Given the description of an element on the screen output the (x, y) to click on. 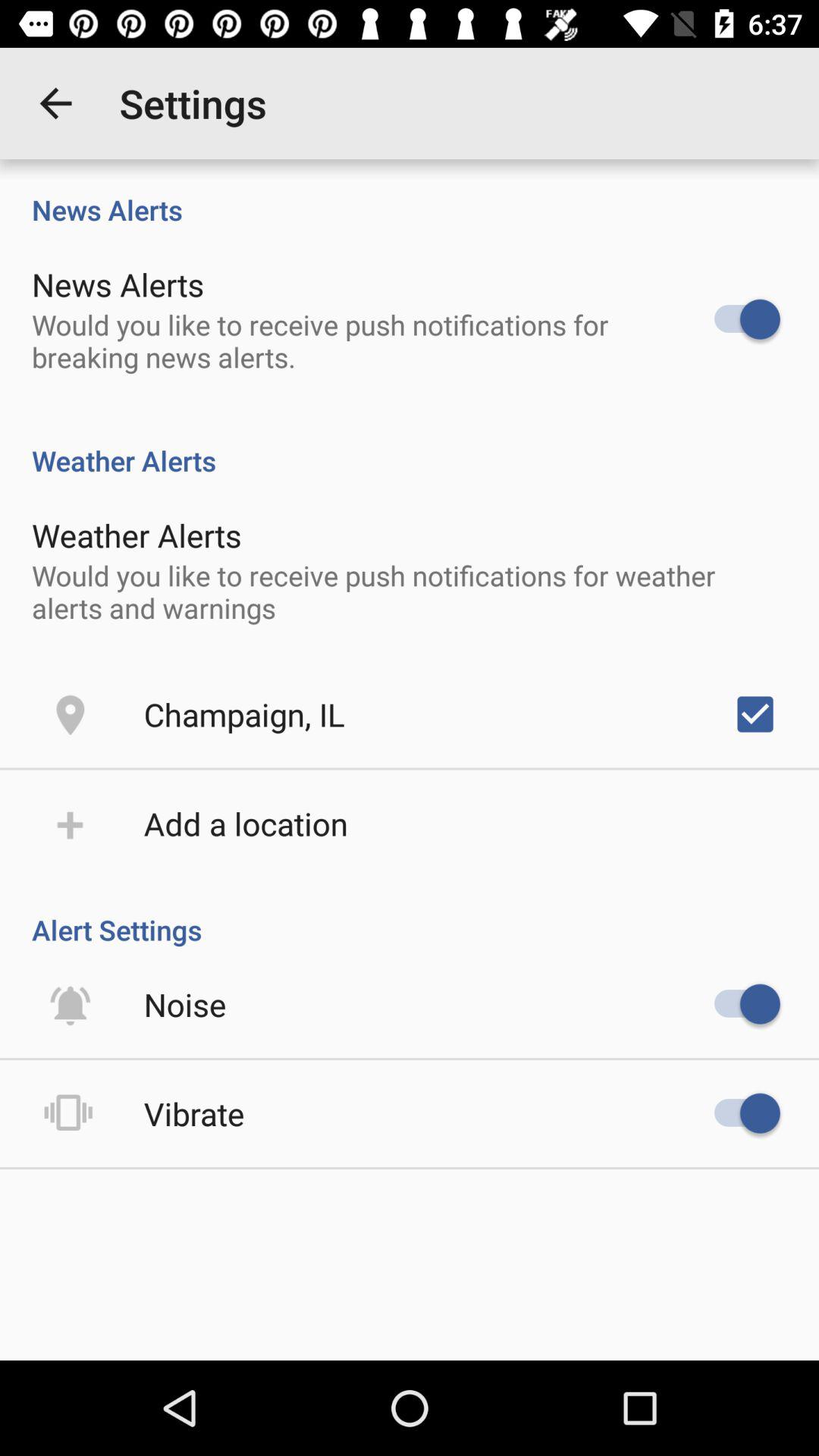
swipe until the alert settings item (409, 913)
